Given the description of an element on the screen output the (x, y) to click on. 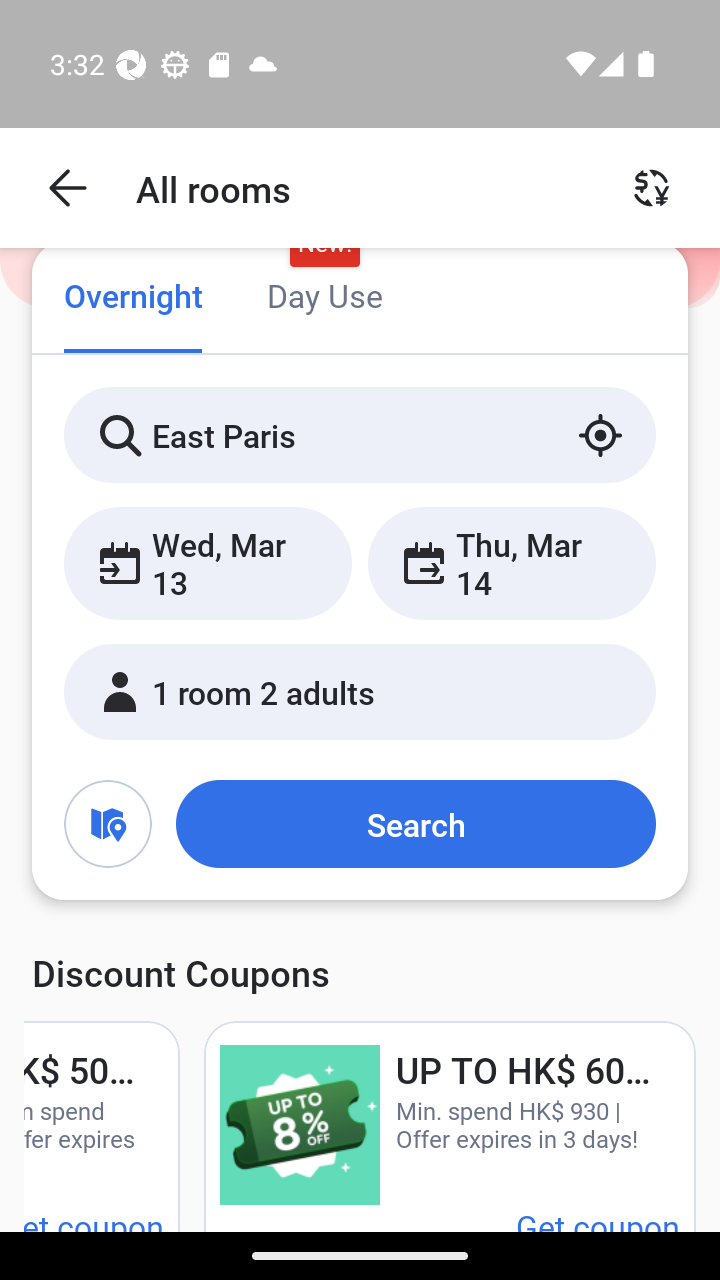
Day Use (324, 298)
East Paris (359, 434)
Wed, Mar 13 (208, 562)
Thu, Mar 14 (511, 562)
1 room 2 adults (359, 691)
Search (415, 823)
